Given the description of an element on the screen output the (x, y) to click on. 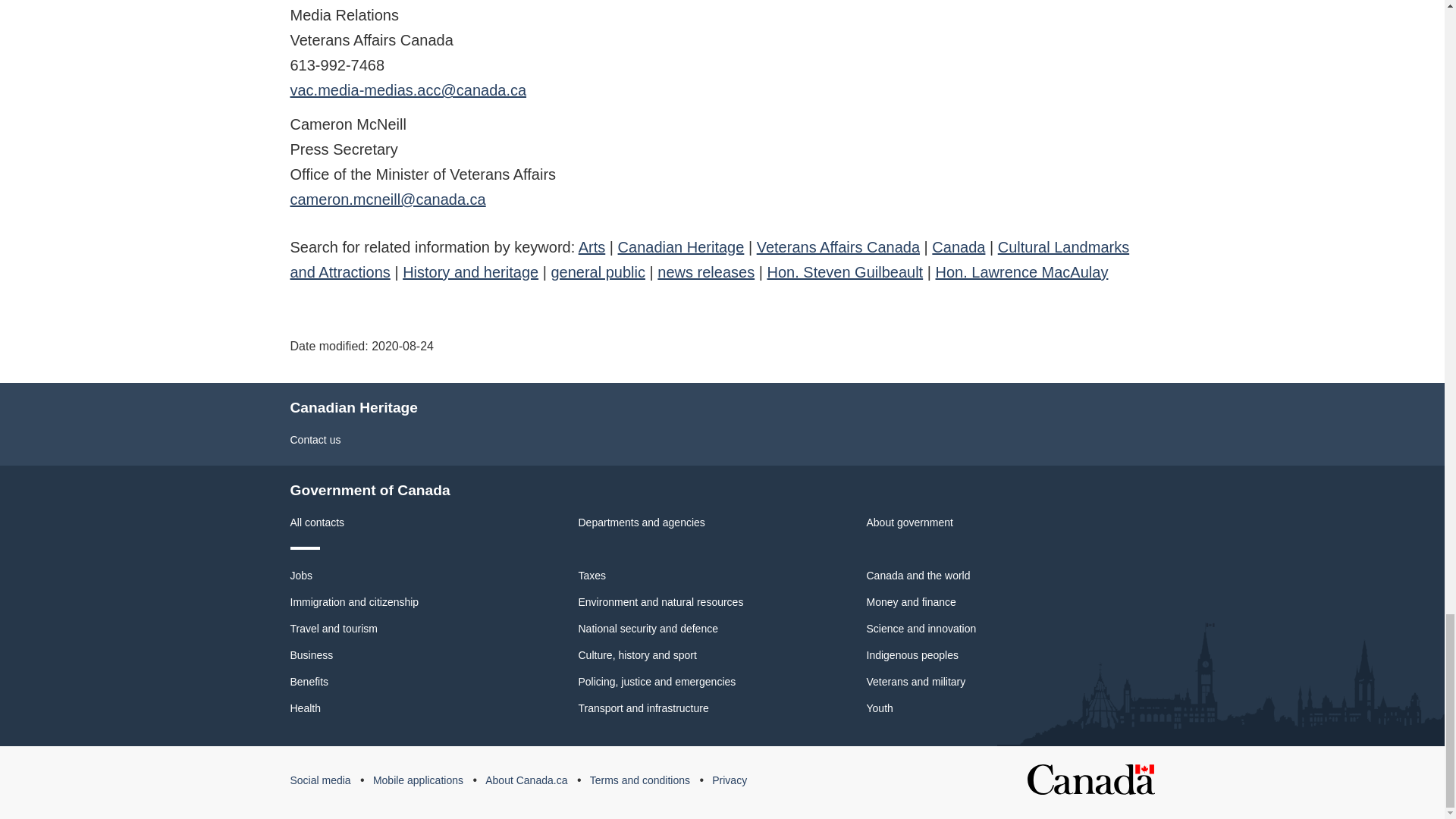
general public (597, 271)
news releases (706, 271)
Arts (591, 247)
History and heritage (470, 271)
Canadian Heritage (680, 247)
Canada (958, 247)
Cultural Landmarks and Attractions (709, 259)
Veterans Affairs Canada (838, 247)
